Given the description of an element on the screen output the (x, y) to click on. 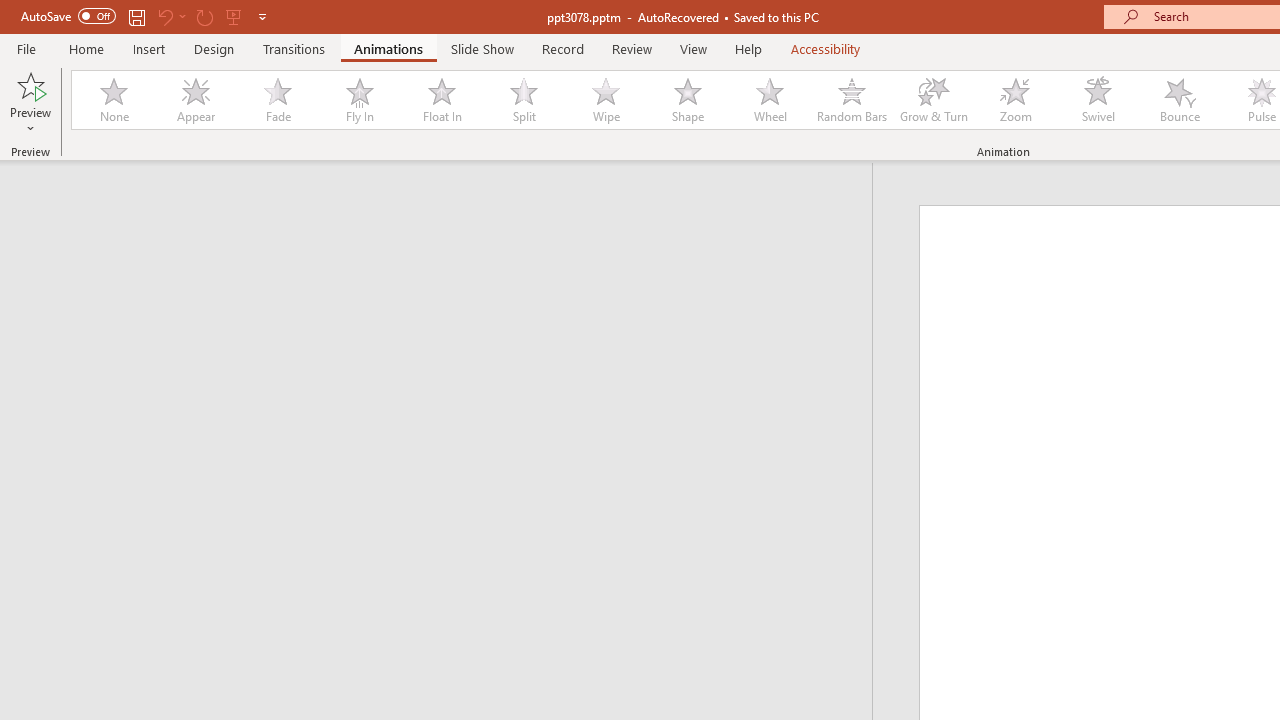
Review (631, 48)
Bounce (1180, 100)
Outline (445, 202)
AutoSave (68, 16)
More Options (30, 121)
Fade (277, 100)
Grow & Turn (934, 100)
Wipe (605, 100)
Preview (30, 102)
System (10, 11)
Save (136, 15)
From Beginning (234, 15)
Slide Show (481, 48)
Swivel (1098, 100)
Preview (30, 84)
